Given the description of an element on the screen output the (x, y) to click on. 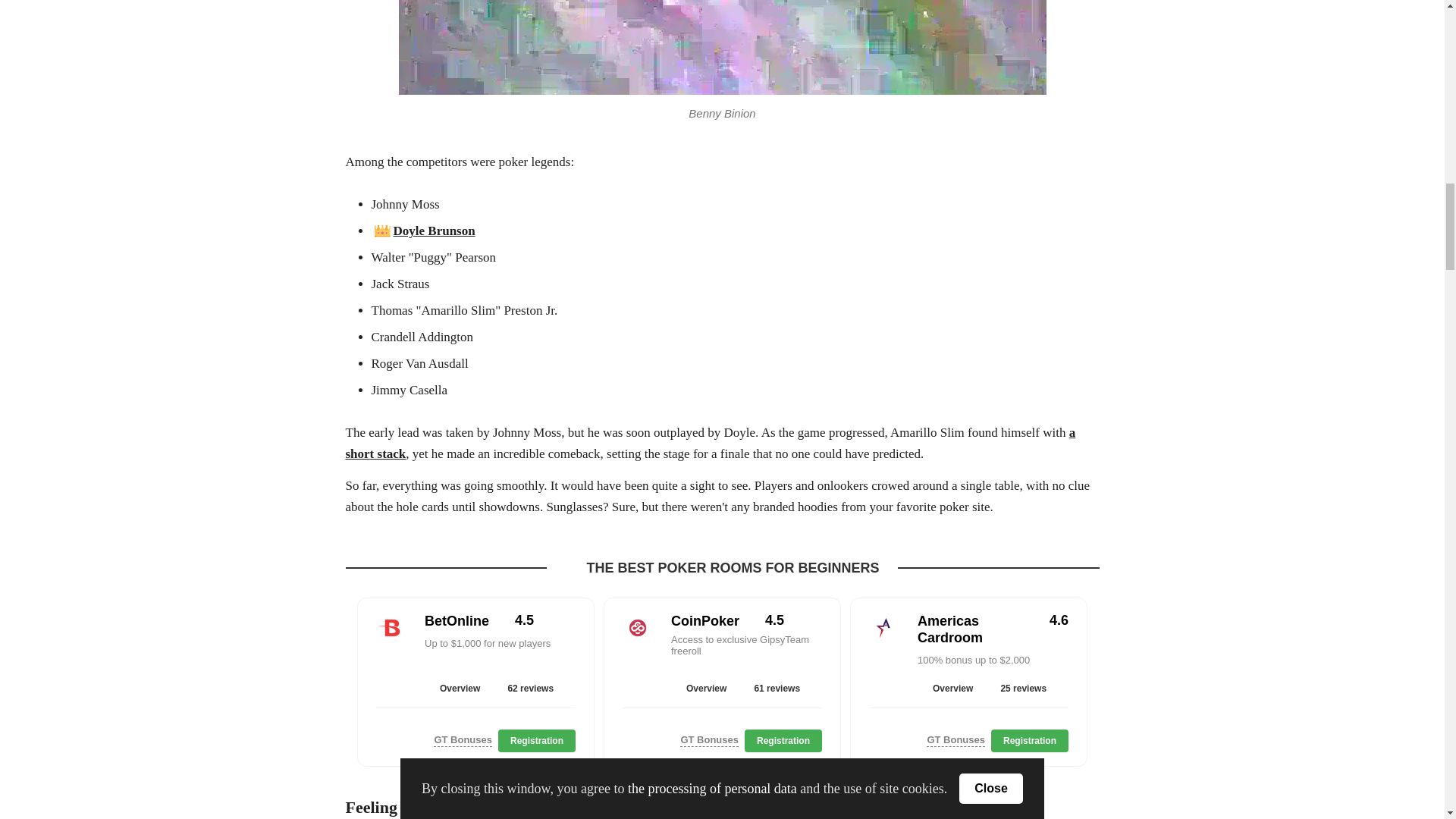
Doyle Brunson (423, 230)
THE BEST POKER ROOMS FOR BEGINNERS (732, 568)
a short stack (710, 443)
